Given the description of an element on the screen output the (x, y) to click on. 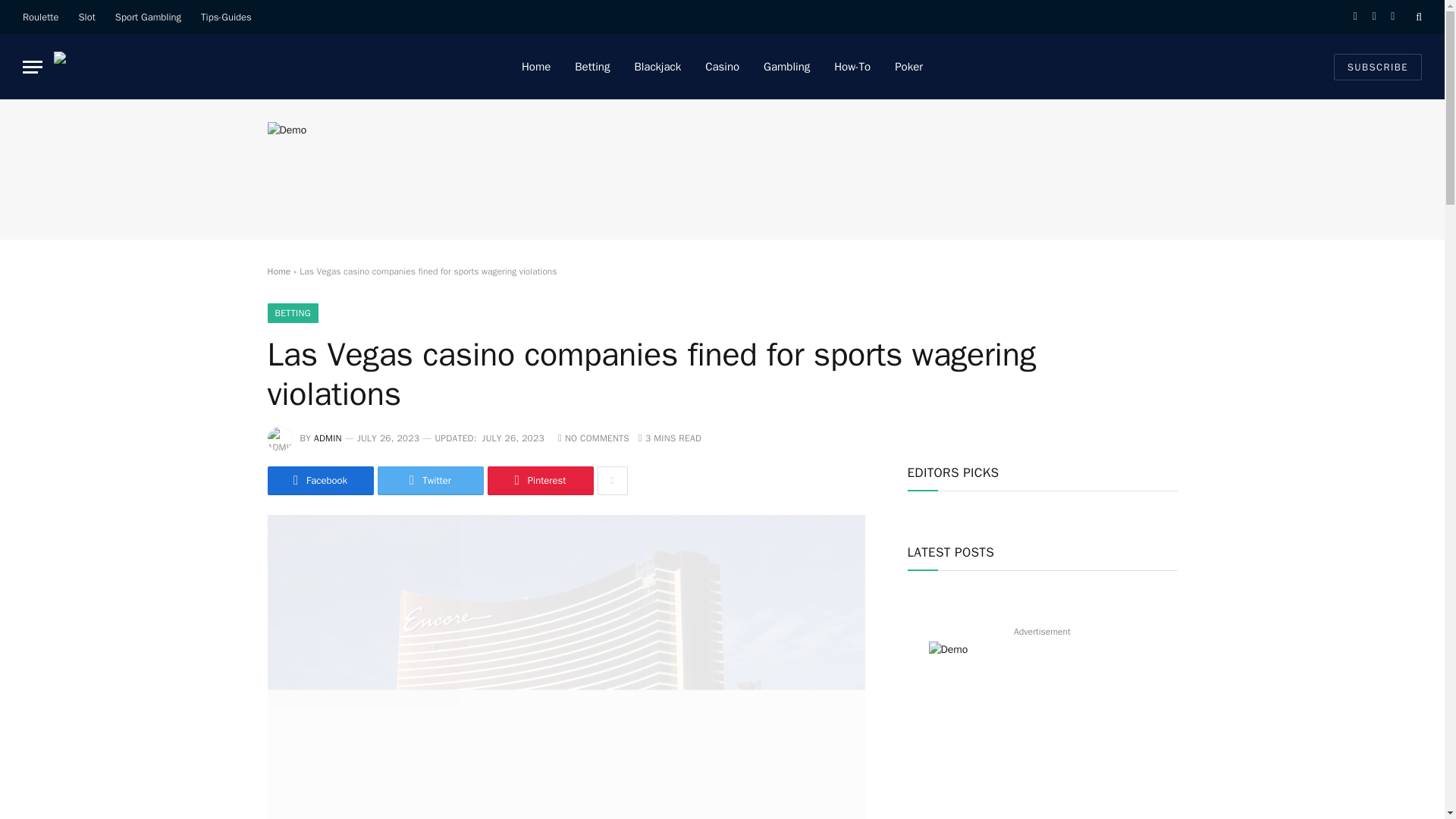
Roulette (40, 17)
Slot (86, 17)
Show More Social Sharing (611, 480)
Share on Facebook (319, 480)
Betting (591, 66)
Share on Pinterest (539, 480)
BETTING (292, 312)
Share on Twitter (430, 480)
SUBSCRIBE (1377, 66)
NO COMMENTS (592, 438)
Gambling (786, 66)
Tips-Guides (226, 17)
Blackjack (657, 66)
Posts by admin (328, 438)
Facebook (319, 480)
